Given the description of an element on the screen output the (x, y) to click on. 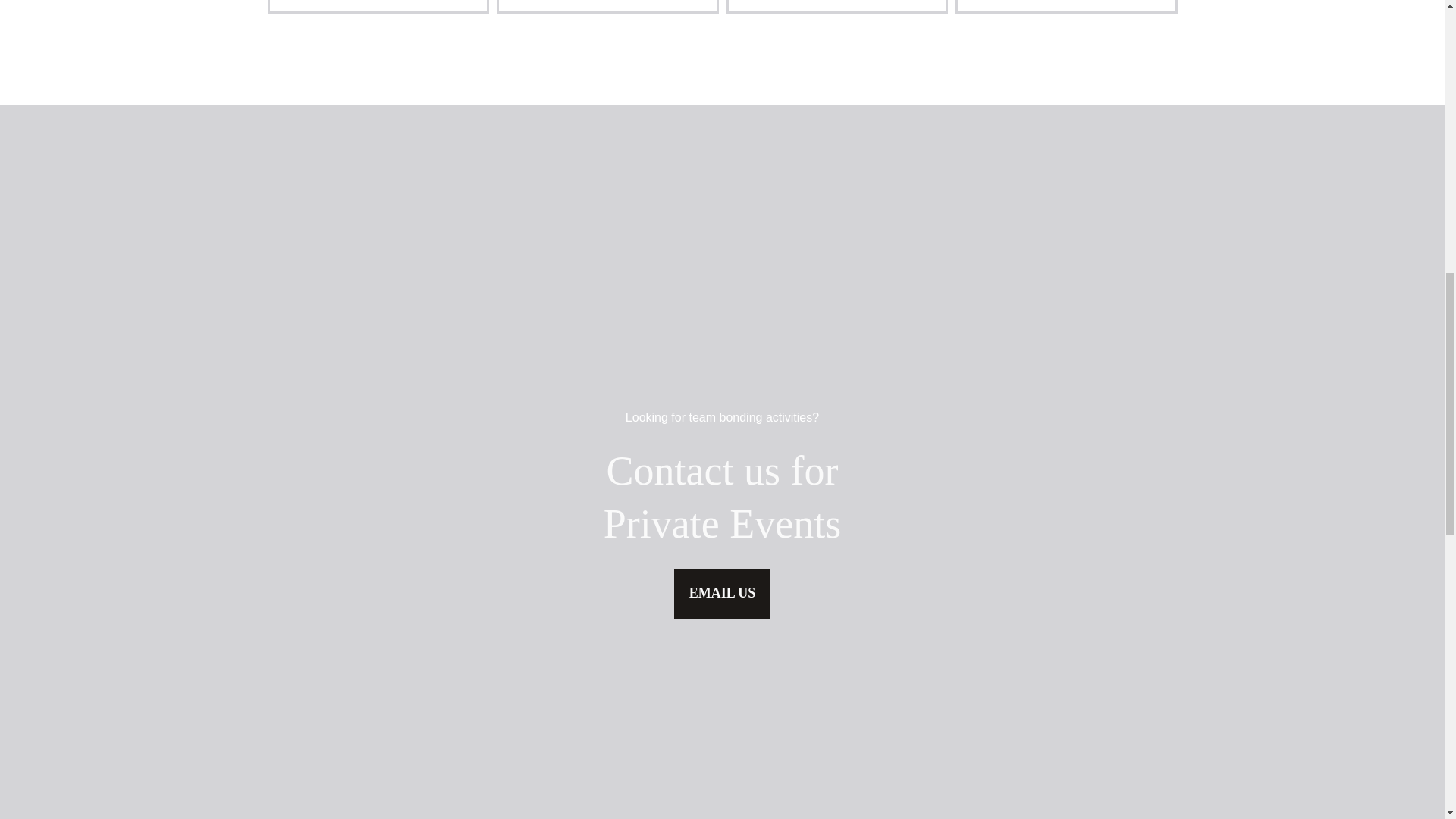
EMAIL US (722, 593)
